Given the description of an element on the screen output the (x, y) to click on. 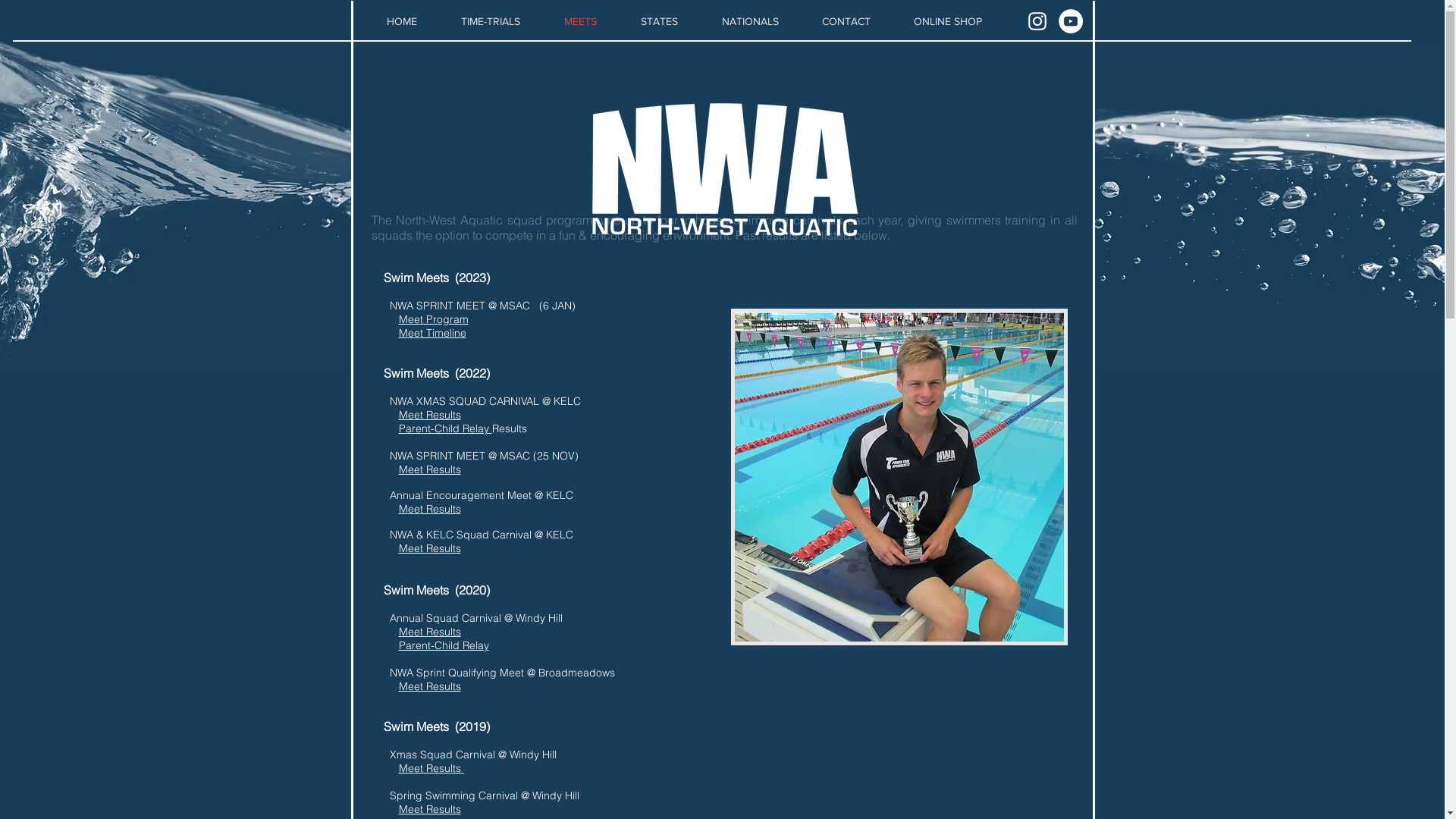
NATIONALS Element type: text (749, 21)
Meet Results Element type: text (429, 469)
Meet Timeline Element type: text (432, 332)
Meet Results Element type: text (429, 508)
Meet Results Element type: text (429, 631)
Meet Results Element type: text (429, 686)
TIME-TRIALS Element type: text (489, 21)
Parent-Child Relay Element type: text (443, 645)
MEETS Element type: text (579, 21)
Meet Results  Element type: text (431, 768)
Meet Results Element type: text (429, 808)
Xmas Squad Carnival  Element type: text (443, 754)
Meet Results Element type: text (429, 414)
Parent-Child Relay  Element type: text (445, 428)
Meet Results Element type: text (429, 548)
ONLINE SHOP Element type: text (947, 21)
Meet Program Element type: text (433, 319)
STATES Element type: text (658, 21)
CONTACT Element type: text (846, 21)
Spring Swimming Carnival Element type: text (453, 795)
HOME Element type: text (401, 21)
